Given the description of an element on the screen output the (x, y) to click on. 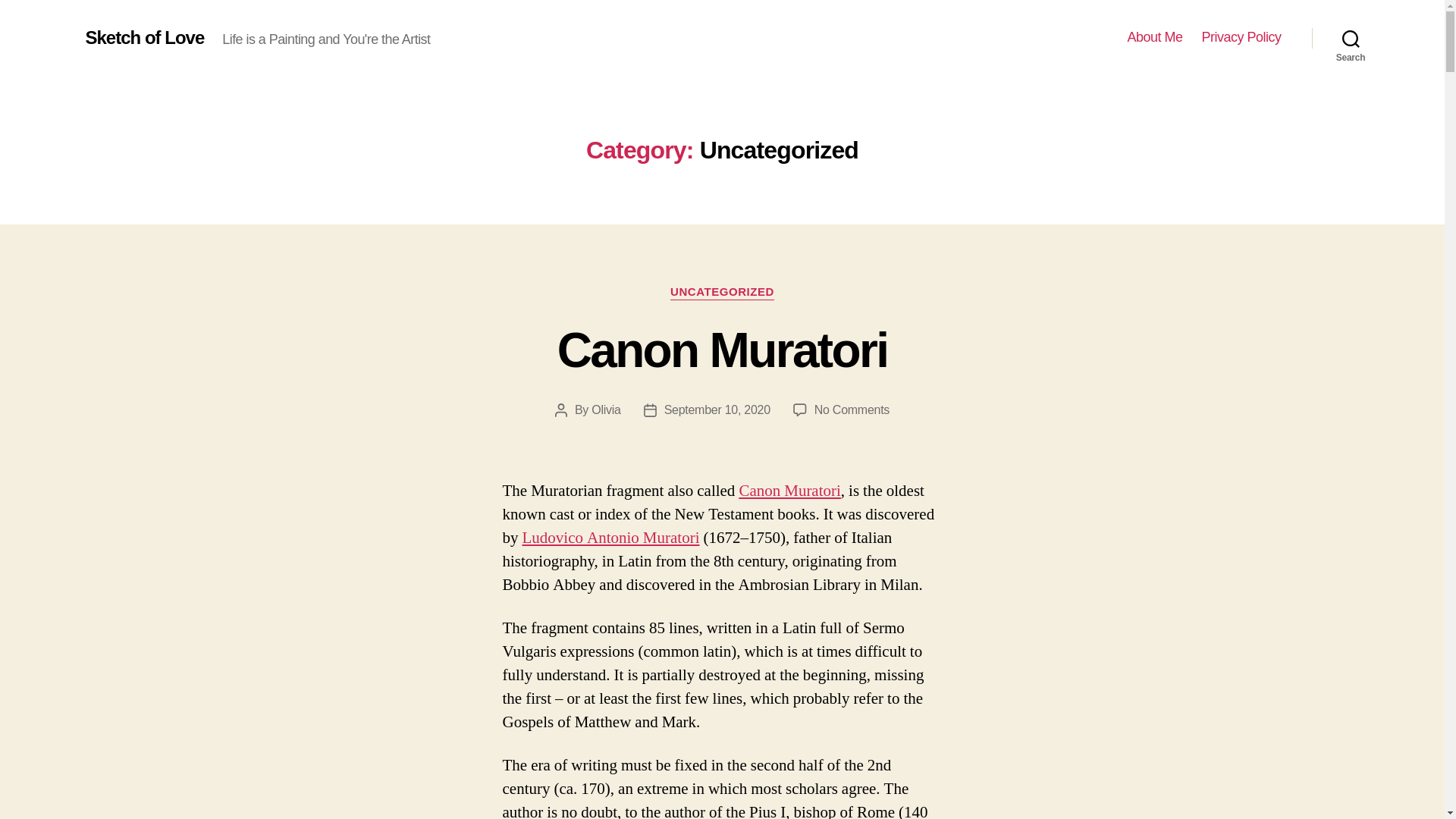
Olivia (605, 409)
Privacy Policy (1241, 37)
Canon Muratori (789, 490)
Ludovico Antonio Muratori (609, 537)
About Me (1154, 37)
Canon Muratori (851, 409)
September 10, 2020 (722, 349)
Sketch of Love (716, 409)
UNCATEGORIZED (143, 37)
Search (721, 292)
